Given the description of an element on the screen output the (x, y) to click on. 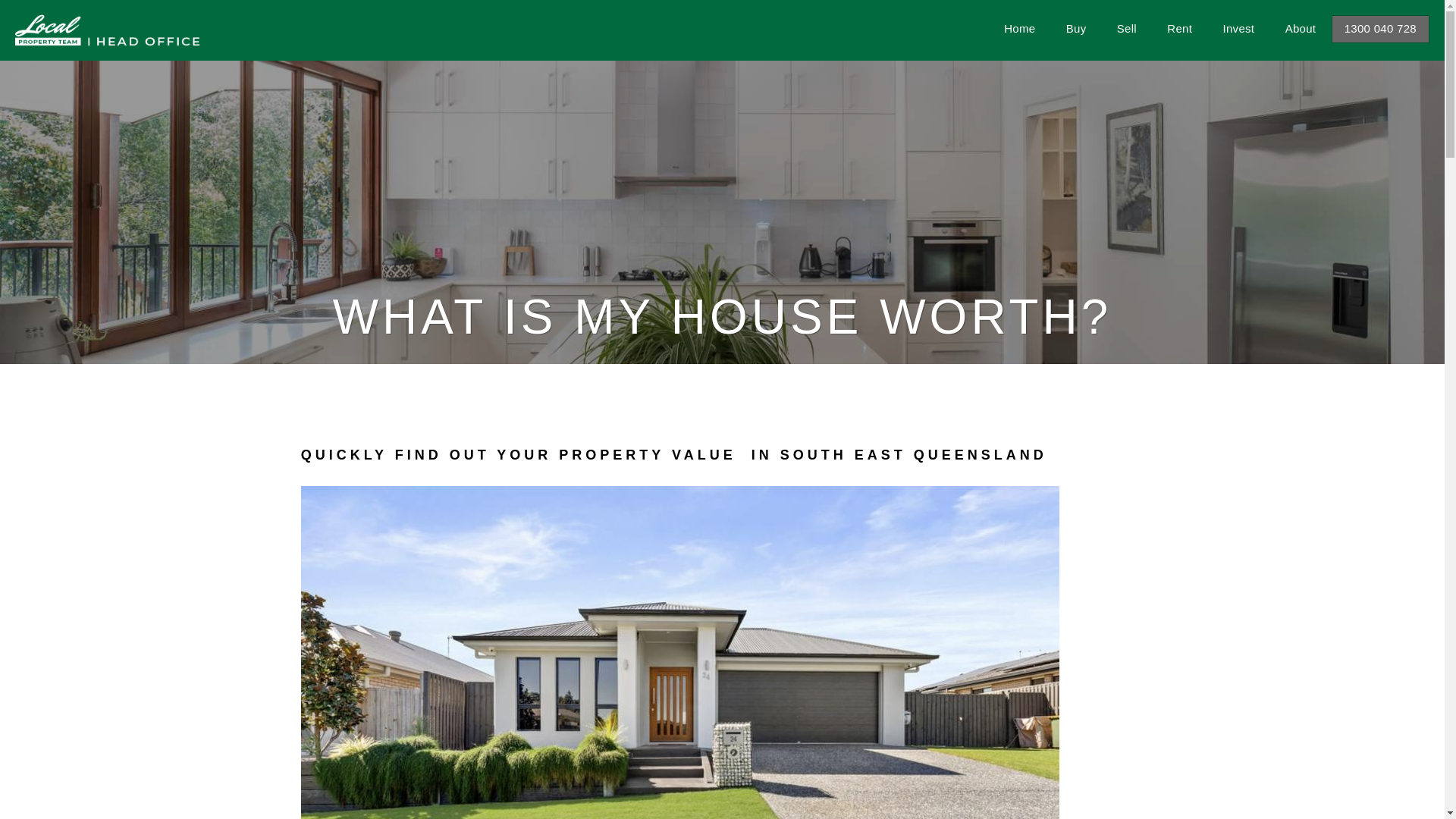
Rent Element type: text (1179, 28)
Home Element type: text (1019, 28)
Invest Element type: text (1238, 28)
1300 040 728 Element type: text (1380, 29)
Local Property Team Element type: hover (108, 28)
Sell Element type: text (1126, 28)
Buy Element type: text (1076, 28)
About Element type: text (1300, 28)
